Given the description of an element on the screen output the (x, y) to click on. 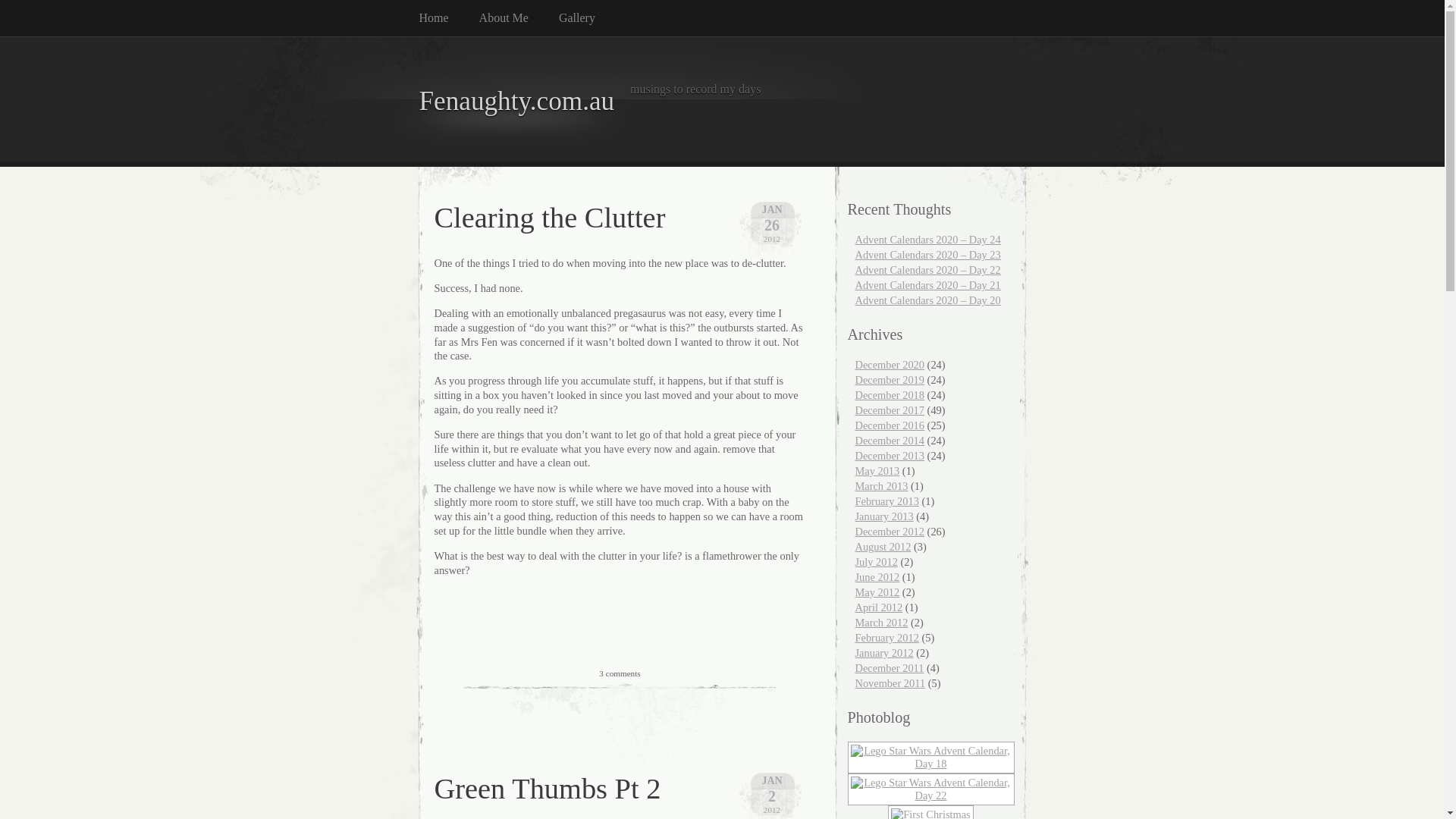
July 2012 Element type: text (876, 561)
May 2012 Element type: text (877, 592)
December 2012 Element type: text (890, 531)
December 2019 Element type: text (890, 379)
Home Element type: text (448, 18)
August 2012 Element type: text (883, 546)
About Me Element type: text (518, 18)
December 2016 Element type: text (890, 425)
June 2012 Element type: text (877, 577)
Fenaughty.com.au Element type: text (516, 101)
March 2013 Element type: text (881, 486)
March 2012 Element type: text (881, 622)
December 2014 Element type: text (890, 440)
December 2013 Element type: text (890, 455)
May 2013 Element type: text (877, 470)
Clearing the Clutter Element type: text (549, 217)
January 2013 Element type: text (884, 516)
December 2011 Element type: text (889, 668)
Gallery Element type: text (591, 18)
April 2012 Element type: text (879, 607)
3 comments Element type: text (619, 672)
December 2020 Element type: text (890, 364)
December 2017 Element type: text (890, 410)
February 2013 Element type: text (887, 501)
February 2012 Element type: text (887, 637)
Green Thumbs Pt 2 Element type: text (546, 788)
December 2018 Element type: text (890, 395)
January 2012 Element type: text (884, 652)
November 2011 Element type: text (890, 683)
